Given the description of an element on the screen output the (x, y) to click on. 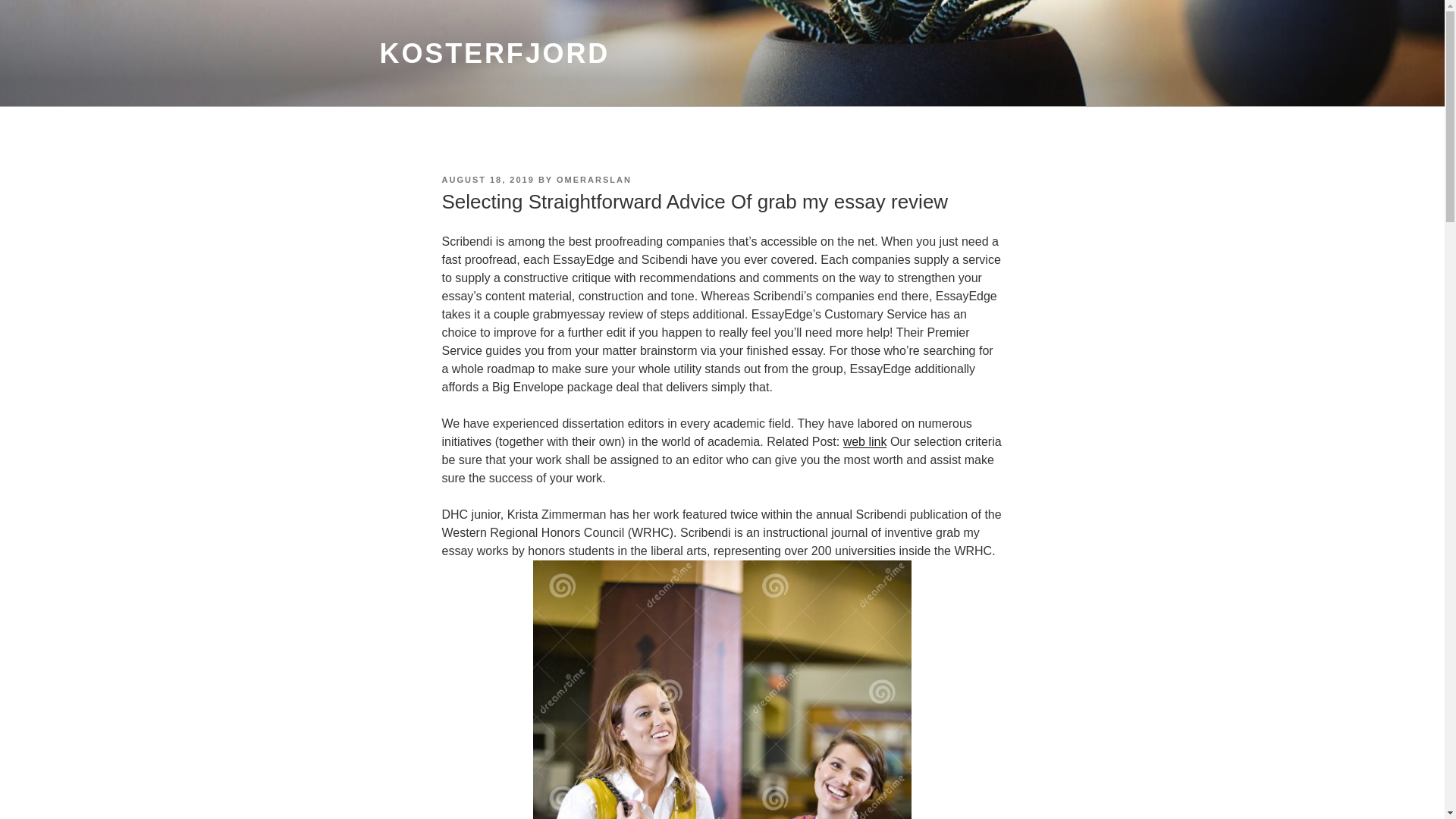
OMERARSLAN (593, 179)
AUGUST 18, 2019 (487, 179)
KOSTERFJORD (494, 52)
web link (864, 440)
